Given the description of an element on the screen output the (x, y) to click on. 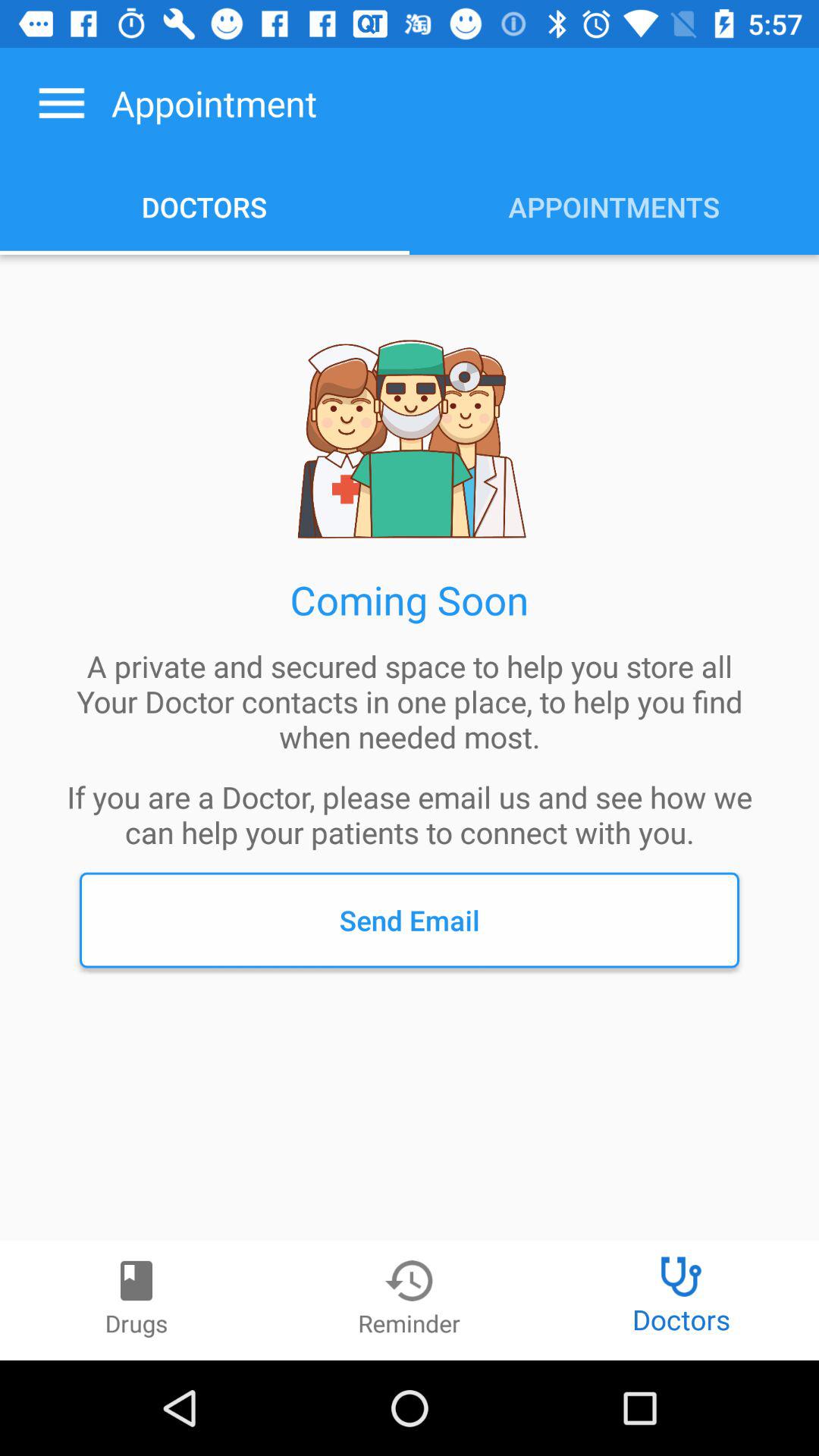
click item below the if you are item (409, 920)
